Given the description of an element on the screen output the (x, y) to click on. 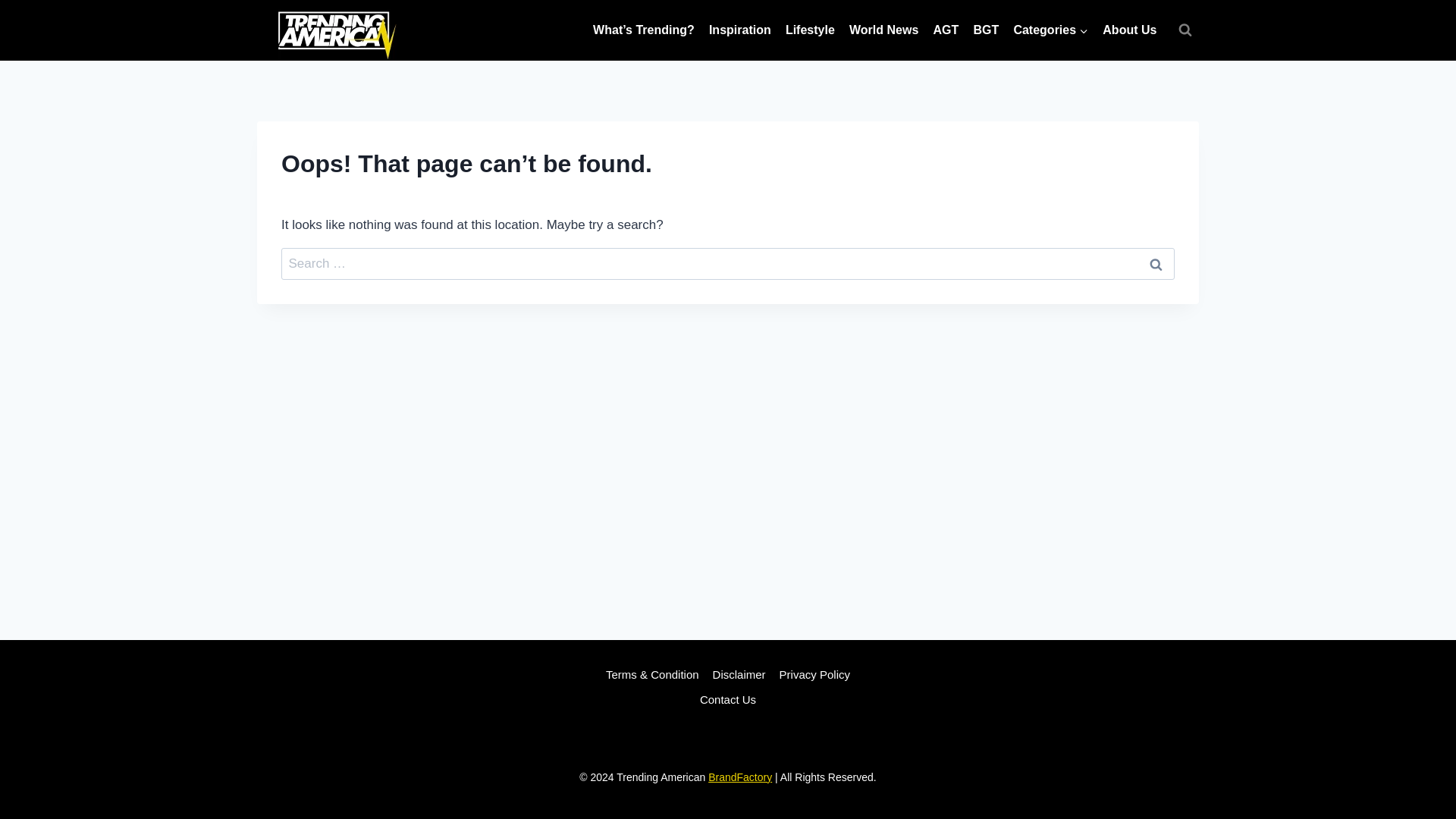
BrandFactory (739, 776)
Search (1155, 264)
About Us (1129, 30)
Inspiration (739, 30)
Privacy Policy (815, 674)
Categories (1051, 30)
Disclaimer (739, 674)
Lifestyle (809, 30)
BGT (986, 30)
Search (1155, 264)
AGT (946, 30)
World News (882, 30)
Search (1155, 264)
Contact Us (727, 699)
